Given the description of an element on the screen output the (x, y) to click on. 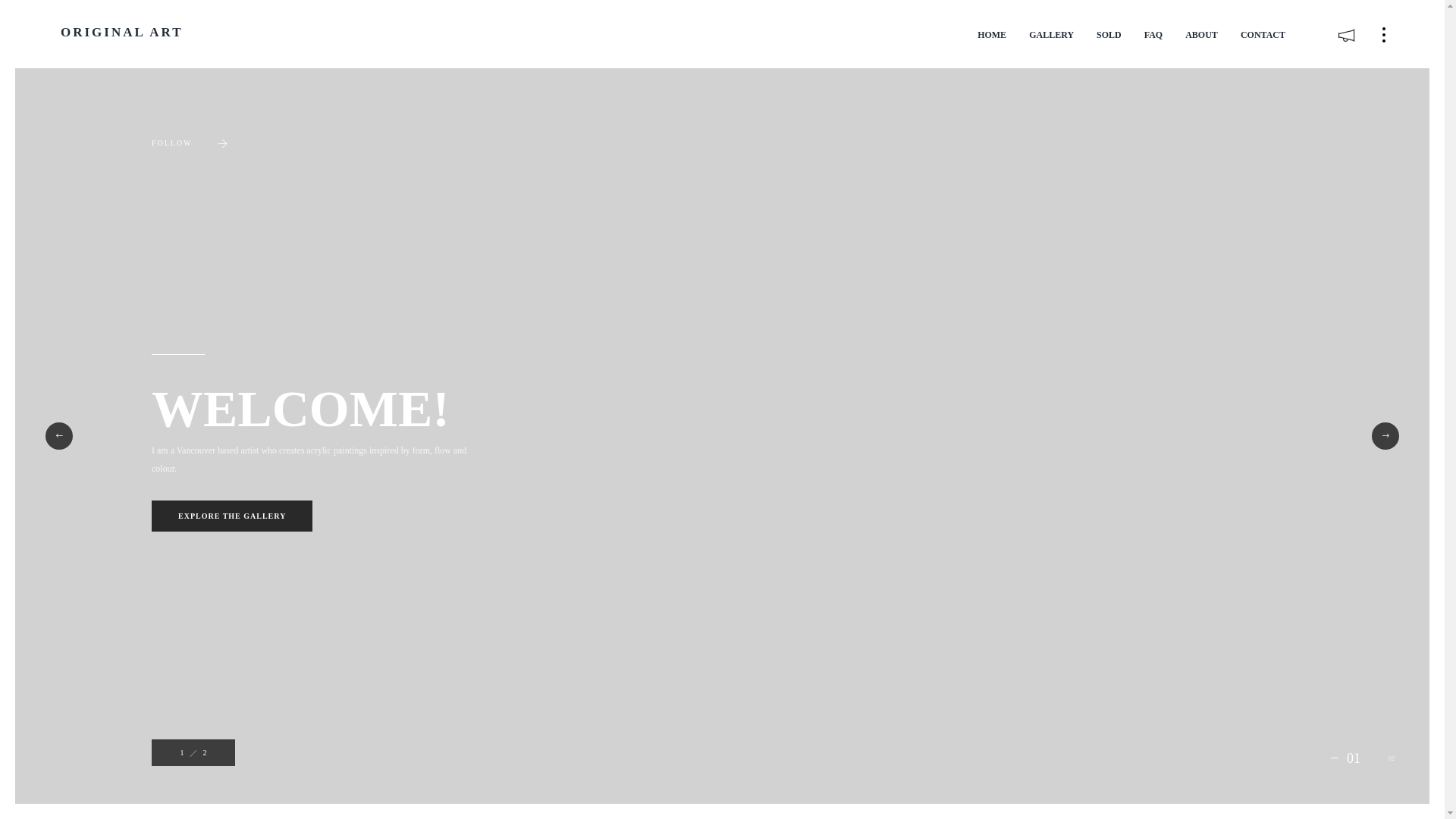
ORIGINAL ART Element type: text (121, 31)
CONTACT Element type: text (1262, 35)
FAQ Element type: text (1153, 35)
GALLERY Element type: text (1051, 35)
SOLD Element type: text (1108, 35)
EXPLORE THE GALLERY Element type: text (231, 515)
ABOUT Element type: text (1201, 35)
HOME Element type: text (991, 35)
